Given the description of an element on the screen output the (x, y) to click on. 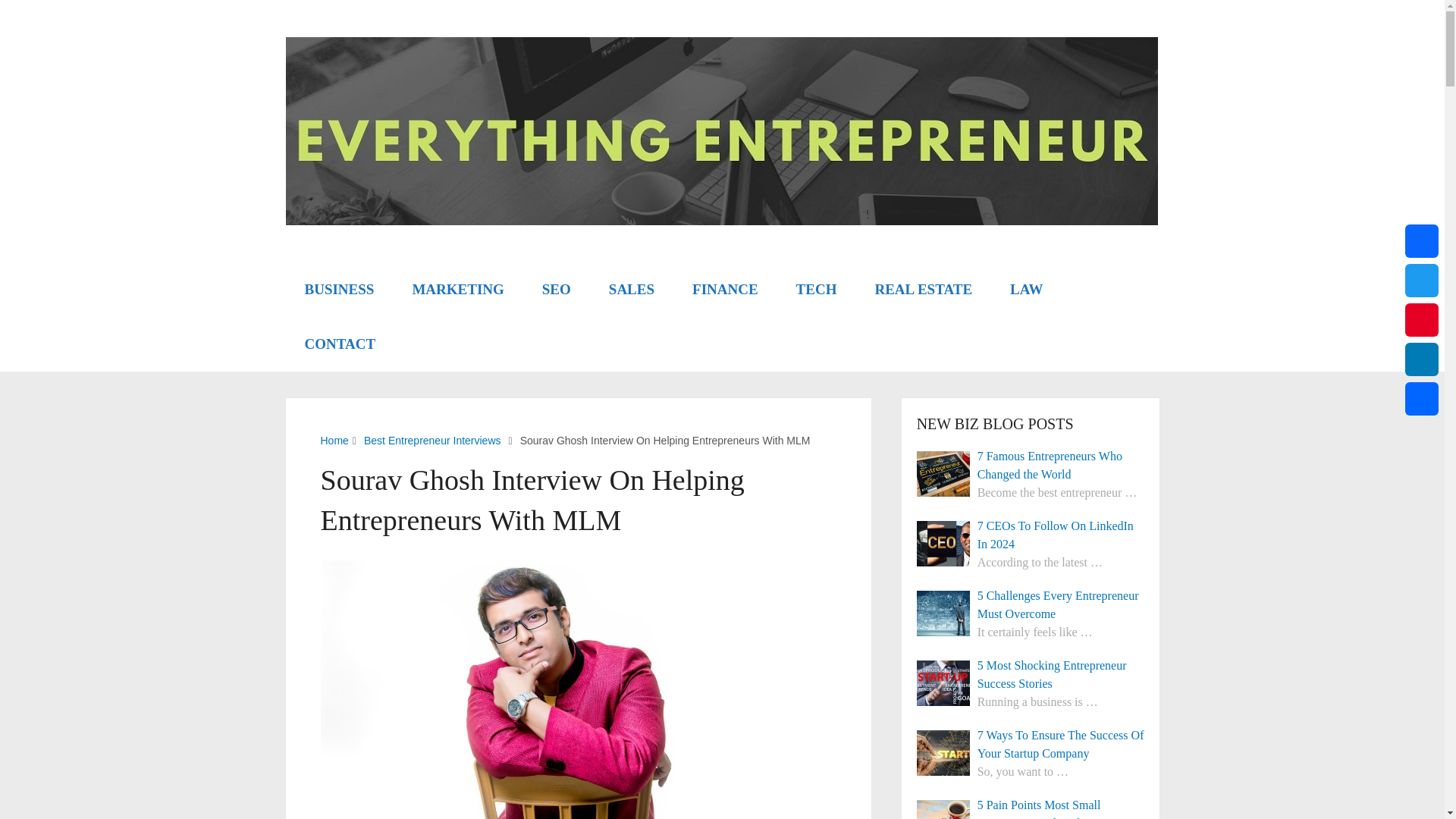
5 Pain Points Most Small Businesses Deal With (1030, 807)
7 Famous Entrepreneurs Who Changed the World (943, 473)
SEO (555, 289)
7 CEOs To Follow On LinkedIn In 2024 (943, 543)
7 Famous Entrepreneurs Who Changed the World (1030, 465)
MARKETING (457, 289)
LAW (1026, 289)
FINANCE (724, 289)
7 CEOs To Follow On LinkedIn In 2024 (1030, 534)
CONTACT (339, 343)
REAL ESTATE (923, 289)
7 Ways To Ensure The Success Of Your Startup Company (1030, 744)
5 Most Shocking Entrepreneur Success Stories (1030, 674)
Best Entrepreneur Interviews (432, 440)
SALES (630, 289)
